Given the description of an element on the screen output the (x, y) to click on. 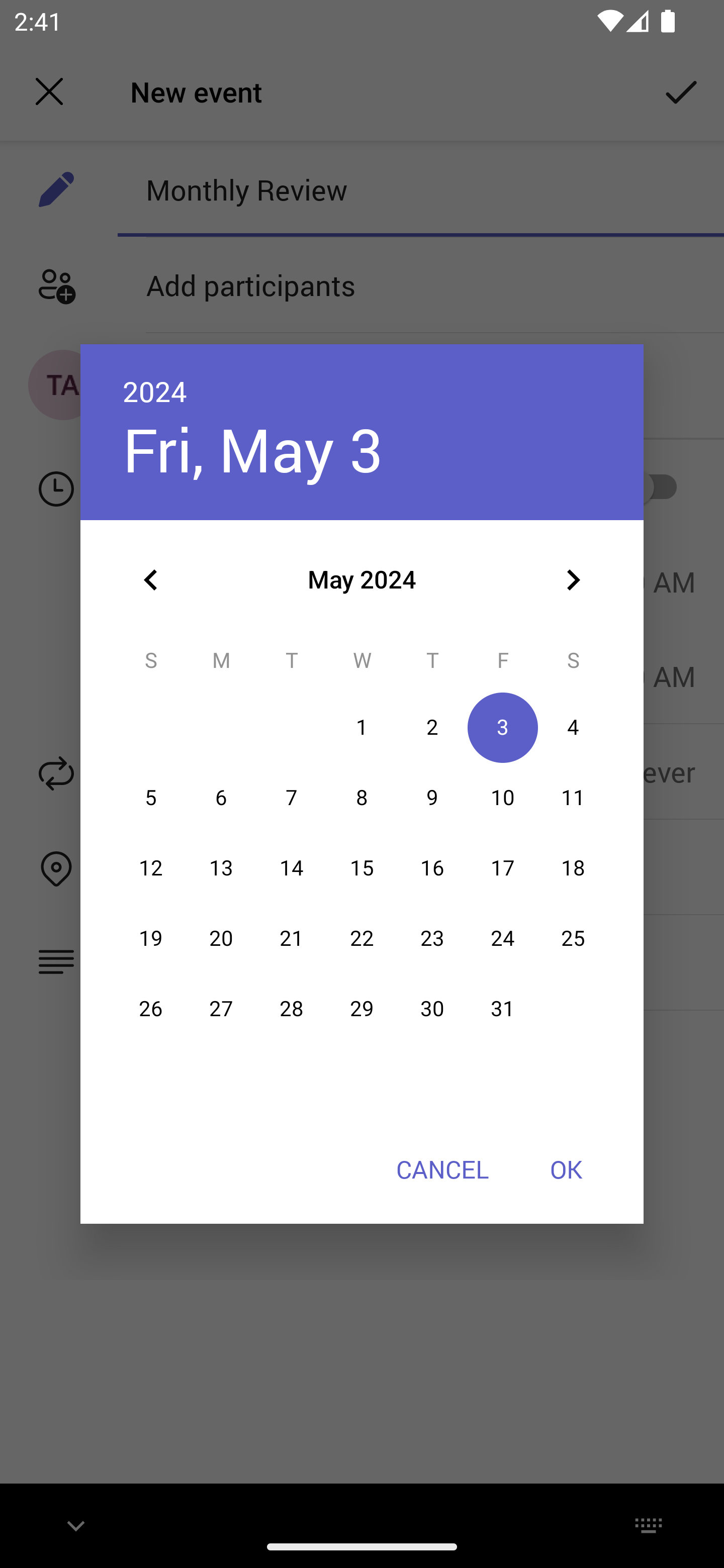
2024 (154, 391)
Fri, May 3 (252, 449)
Previous month (150, 579)
Next month (572, 579)
1 01 May 2024 (361, 728)
2 02 May 2024 (432, 728)
3 03 May 2024 (502, 728)
4 04 May 2024 (572, 728)
5 05 May 2024 (150, 797)
6 06 May 2024 (221, 797)
7 07 May 2024 (291, 797)
8 08 May 2024 (361, 797)
9 09 May 2024 (432, 797)
10 10 May 2024 (502, 797)
11 11 May 2024 (572, 797)
12 12 May 2024 (150, 867)
13 13 May 2024 (221, 867)
14 14 May 2024 (291, 867)
15 15 May 2024 (361, 867)
16 16 May 2024 (432, 867)
17 17 May 2024 (502, 867)
18 18 May 2024 (572, 867)
19 19 May 2024 (150, 938)
20 20 May 2024 (221, 938)
21 21 May 2024 (291, 938)
22 22 May 2024 (361, 938)
23 23 May 2024 (432, 938)
24 24 May 2024 (502, 938)
25 25 May 2024 (572, 938)
26 26 May 2024 (150, 1008)
27 27 May 2024 (221, 1008)
28 28 May 2024 (291, 1008)
29 29 May 2024 (361, 1008)
30 30 May 2024 (432, 1008)
31 31 May 2024 (502, 1008)
CANCEL (442, 1168)
OK (565, 1168)
